Given the description of an element on the screen output the (x, y) to click on. 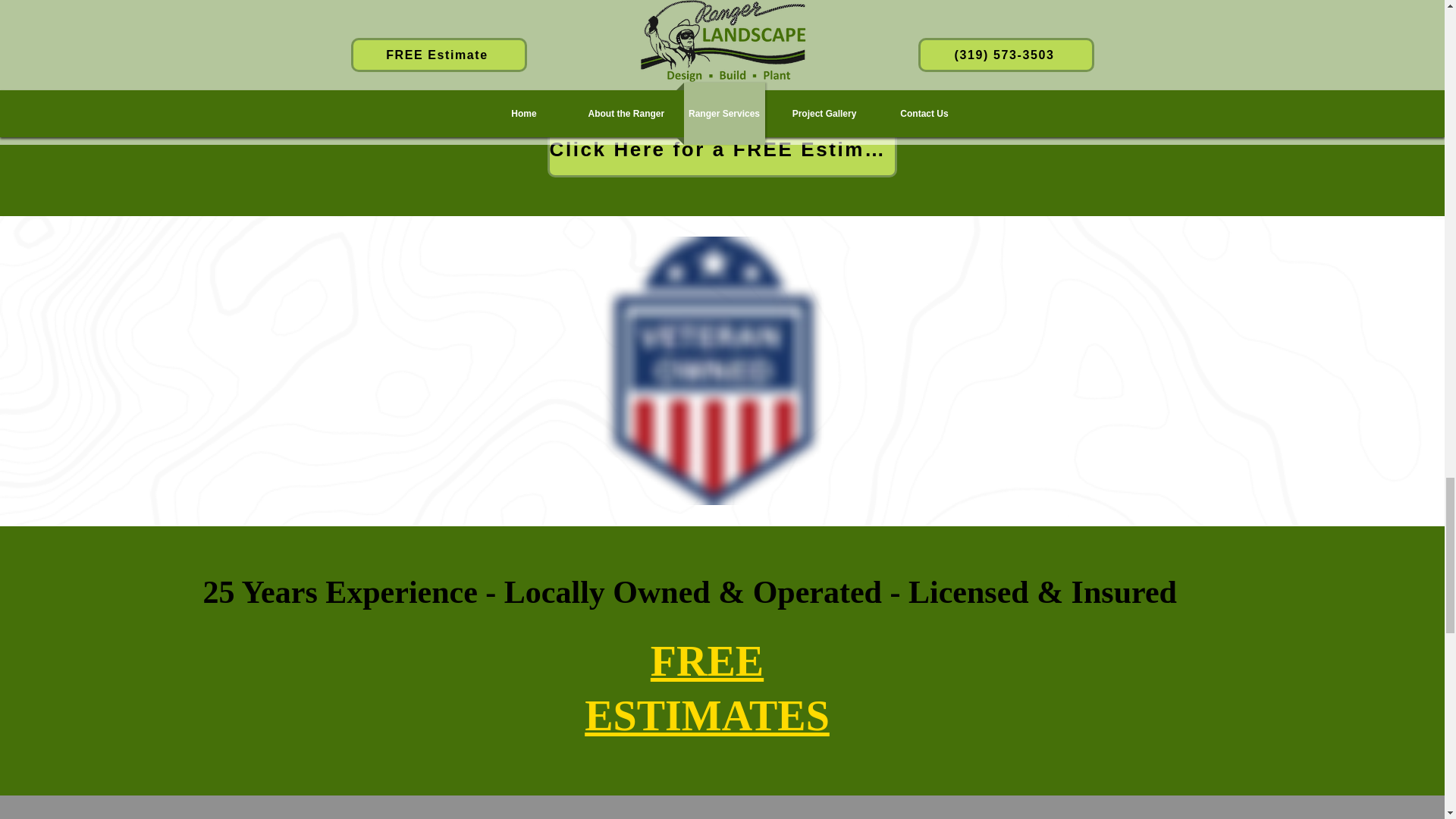
Click Here for a FREE Estimate (721, 149)
FREE ESTIMATES (707, 695)
